Given the description of an element on the screen output the (x, y) to click on. 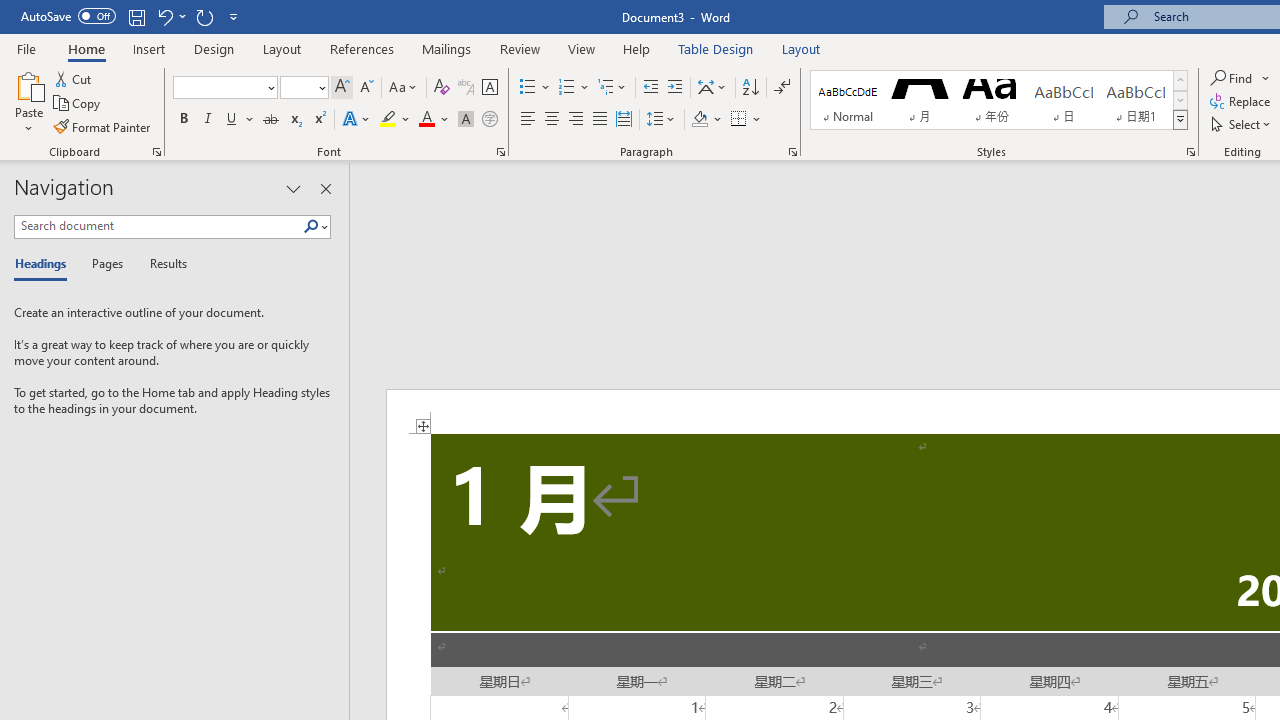
Undo Grow Font (170, 15)
